Given the description of an element on the screen output the (x, y) to click on. 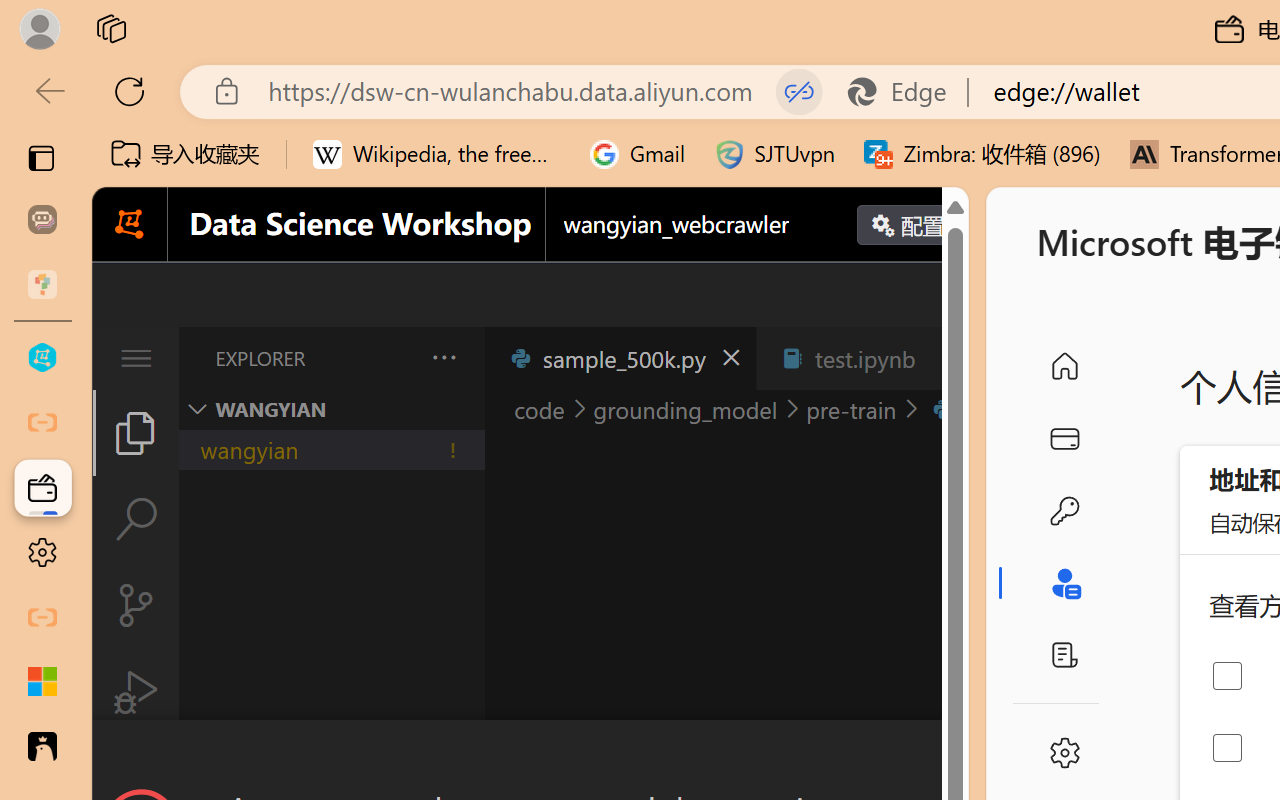
Wikipedia, the free encyclopedia (437, 154)
Close Dialog (959, 756)
Gmail (637, 154)
Application Menu (135, 358)
Explorer (Ctrl+Shift+E) (135, 432)
wangyian_dsw - DSW (42, 357)
test.ipynb (864, 358)
